Given the description of an element on the screen output the (x, y) to click on. 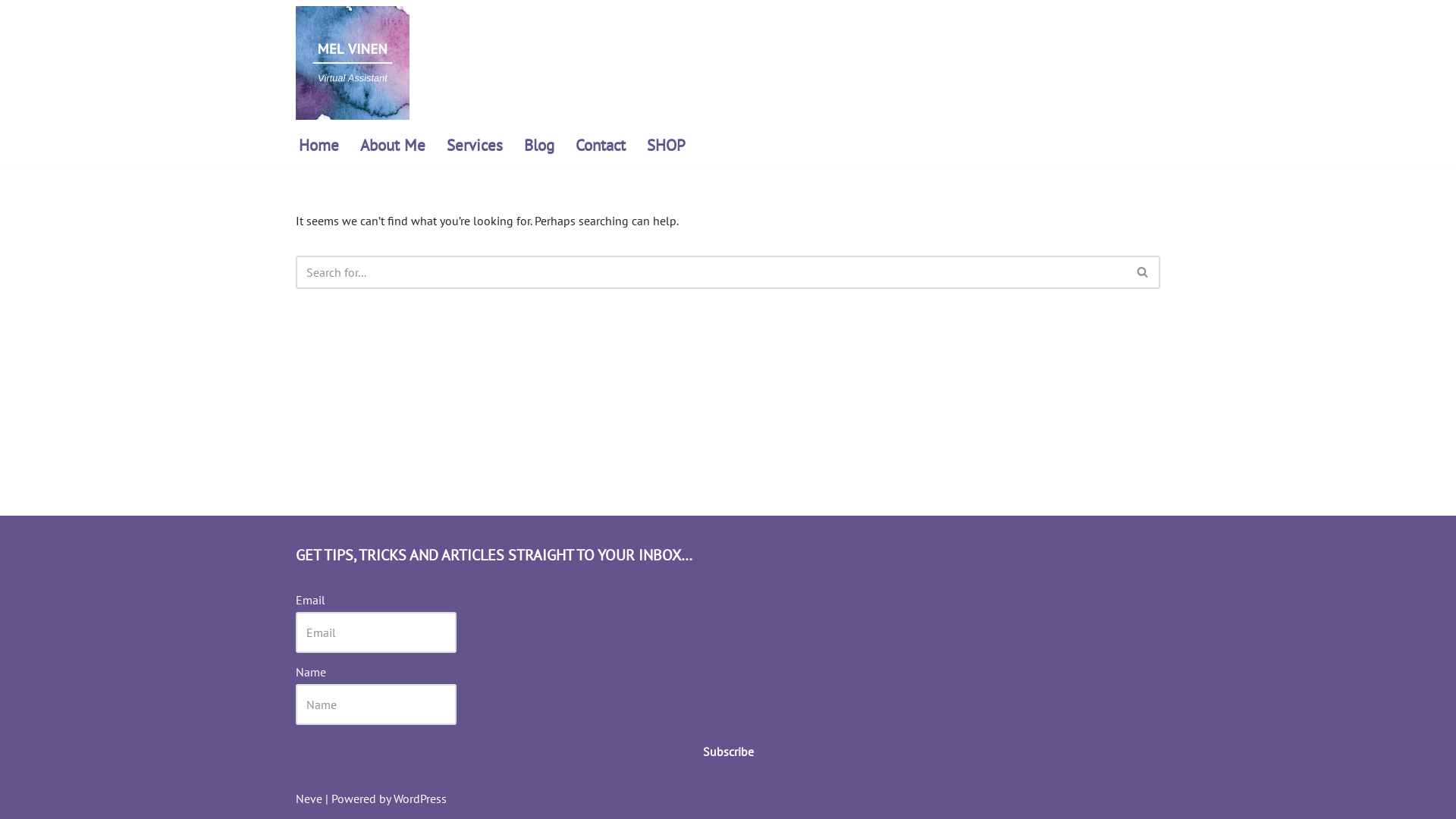
Home Element type: text (318, 144)
SHOP Element type: text (665, 144)
About Me Element type: text (392, 144)
Skip to content Element type: text (11, 31)
Services Element type: text (474, 144)
Blog Element type: text (539, 144)
Neve Element type: text (308, 798)
WordPress Element type: text (419, 798)
Subscribe Element type: text (728, 751)
Contact Element type: text (600, 144)
